Given the description of an element on the screen output the (x, y) to click on. 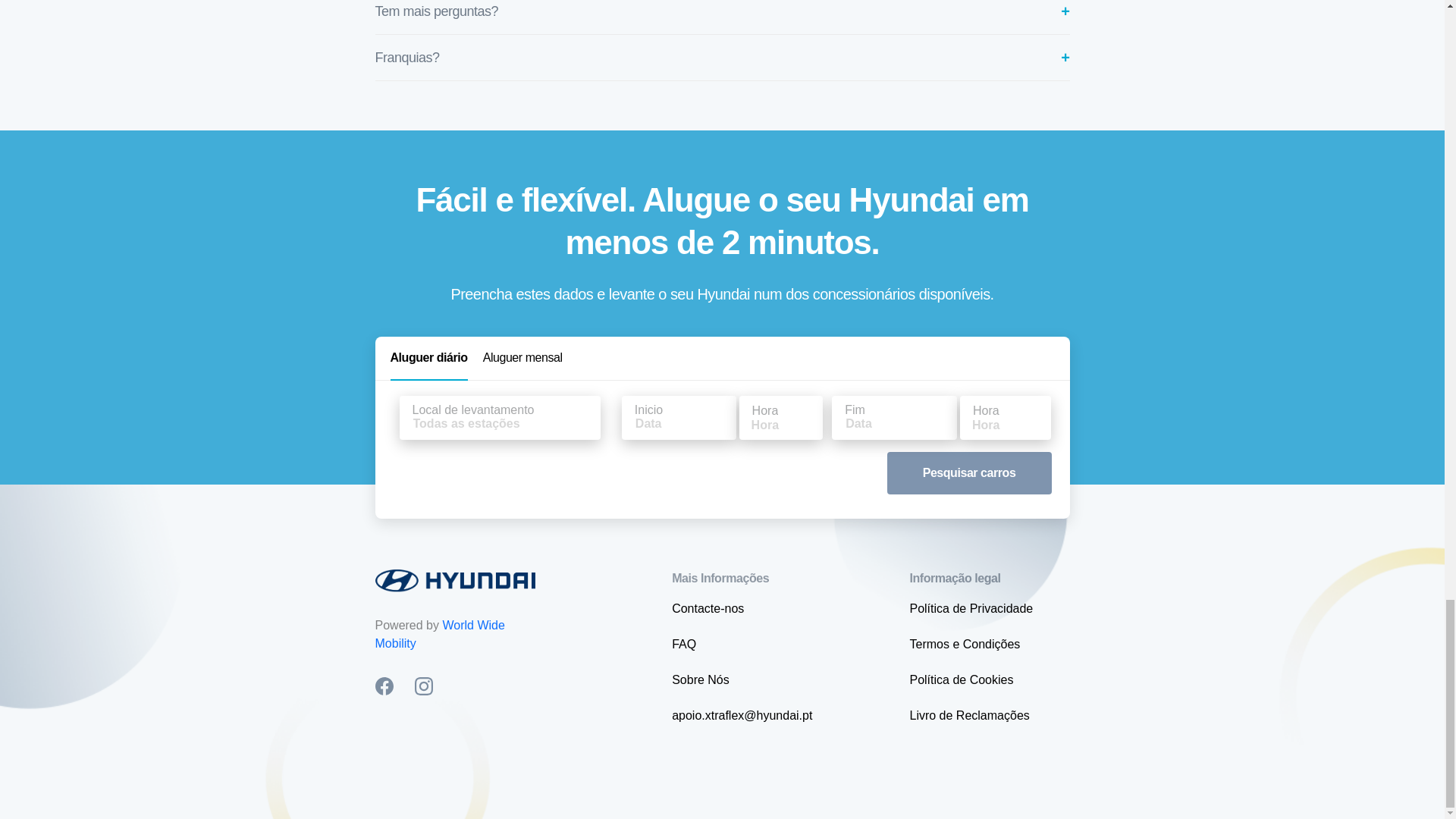
Contacte-nos (707, 608)
FAQ (683, 644)
World Wide Mobility (438, 634)
Aluguer mensal (522, 357)
Pesquisar carros (968, 473)
